Given the description of an element on the screen output the (x, y) to click on. 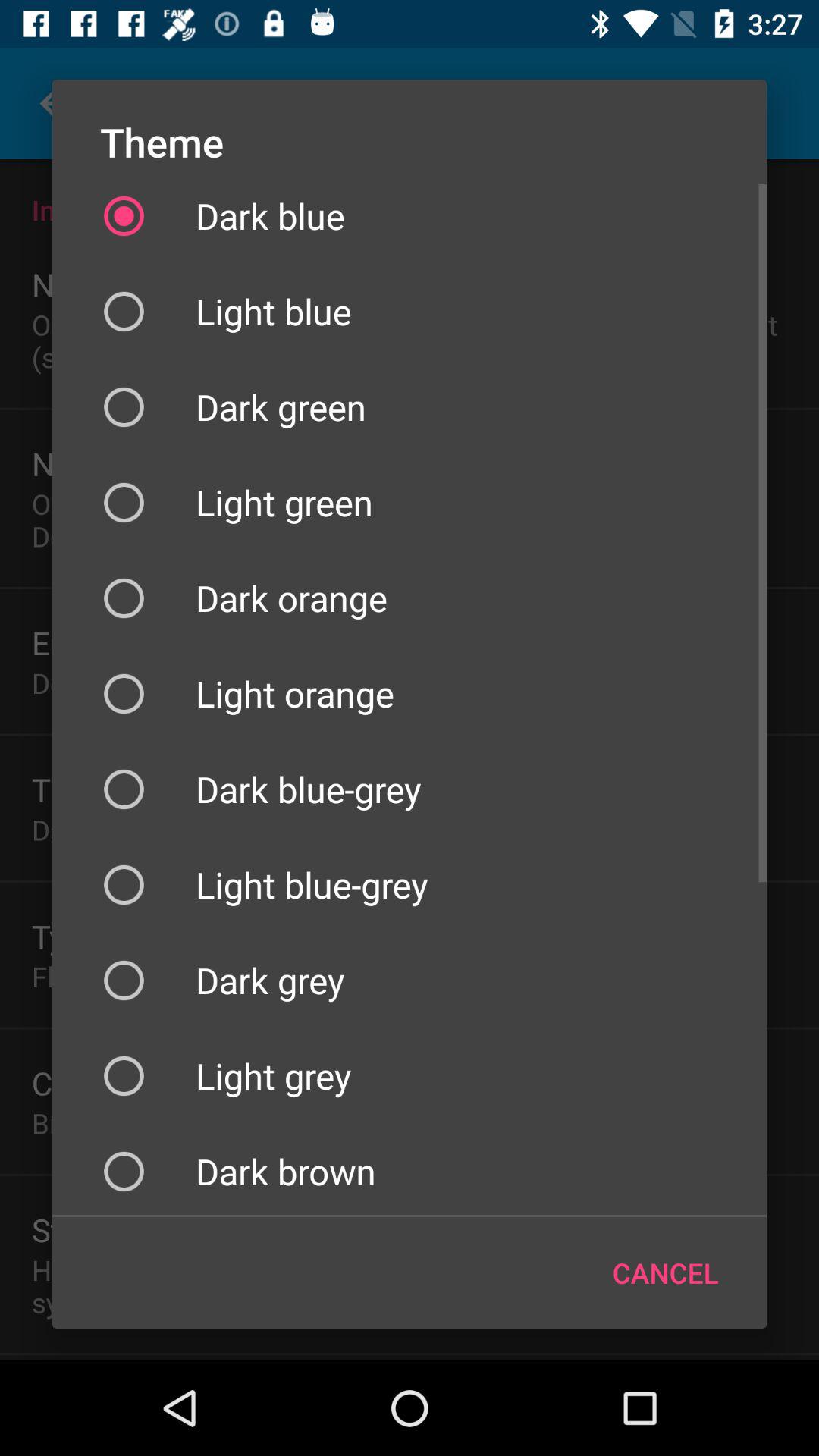
select the cancel icon (665, 1272)
